Given the description of an element on the screen output the (x, y) to click on. 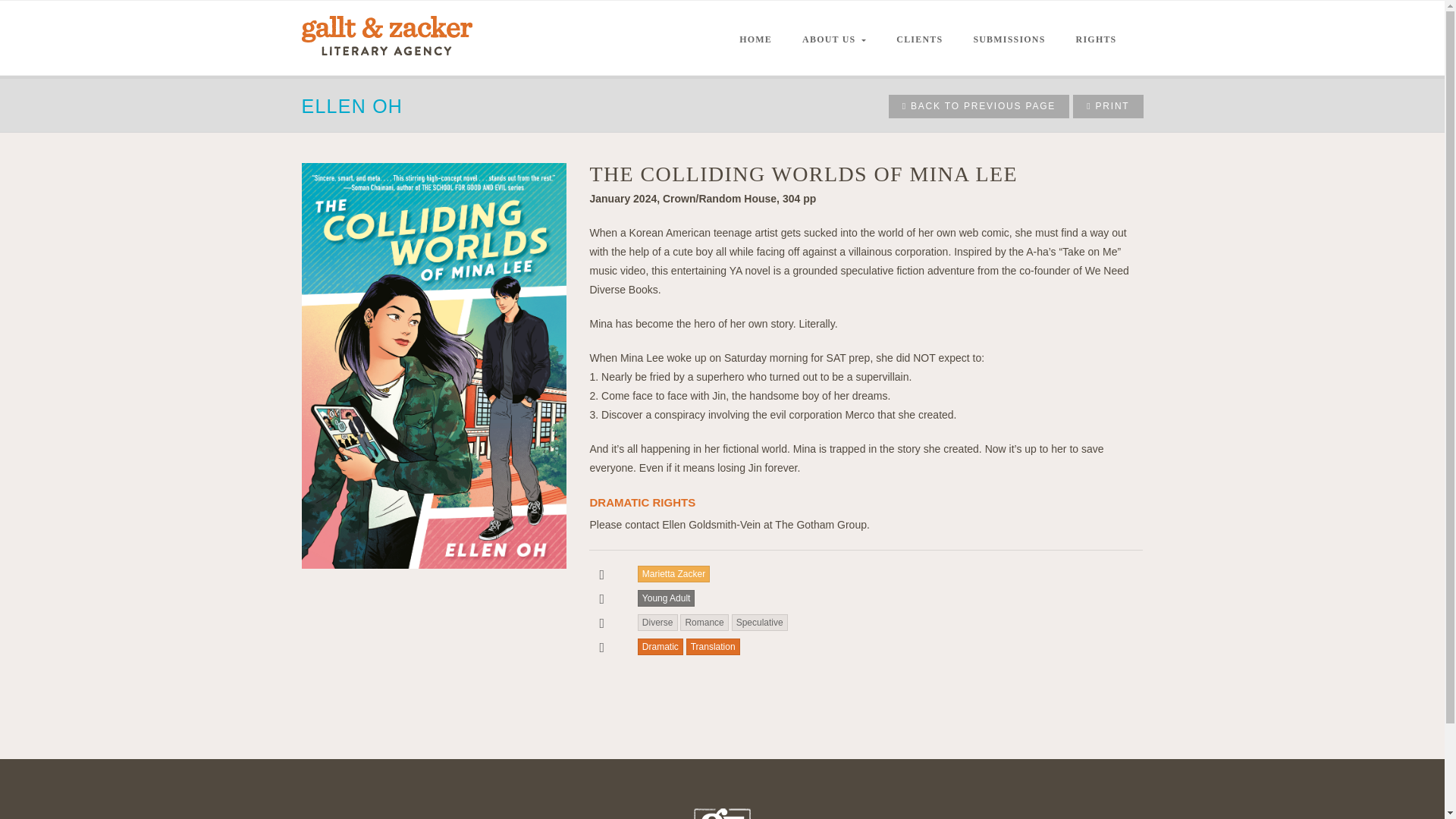
Diverse (657, 622)
Romance (703, 622)
Young Adult (666, 597)
SUBMISSIONS (1008, 34)
Marietta Zacker (673, 573)
Romance (703, 622)
Translation (712, 646)
Dramatic (659, 646)
Speculative (759, 622)
Young Adult (666, 597)
